Given the description of an element on the screen output the (x, y) to click on. 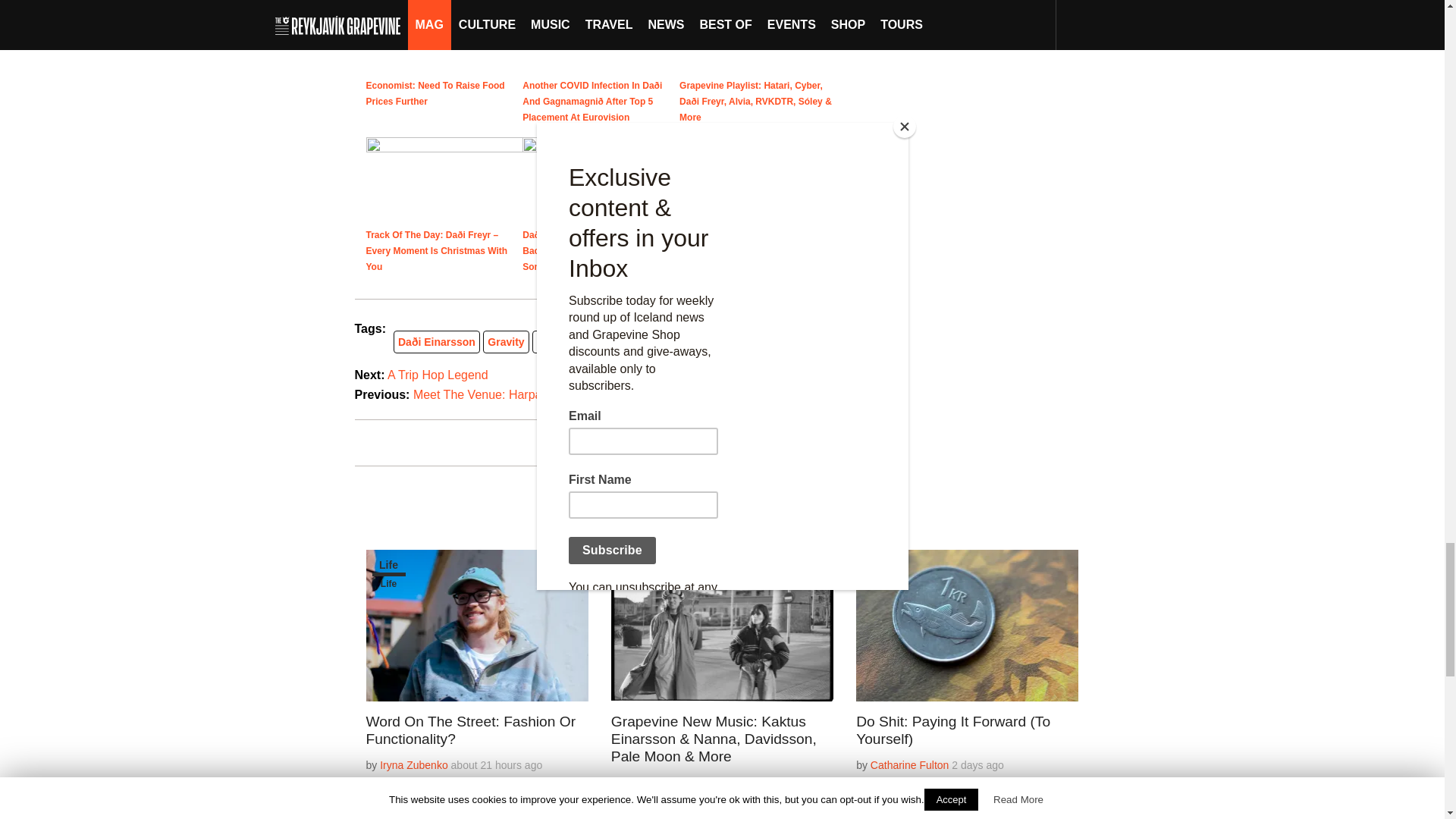
Economist: Need To Raise Food Prices Further (434, 93)
Economist: Need To Raise Food Prices Further (443, 38)
Economist: Need To Raise Food Prices Further (434, 93)
